Given the description of an element on the screen output the (x, y) to click on. 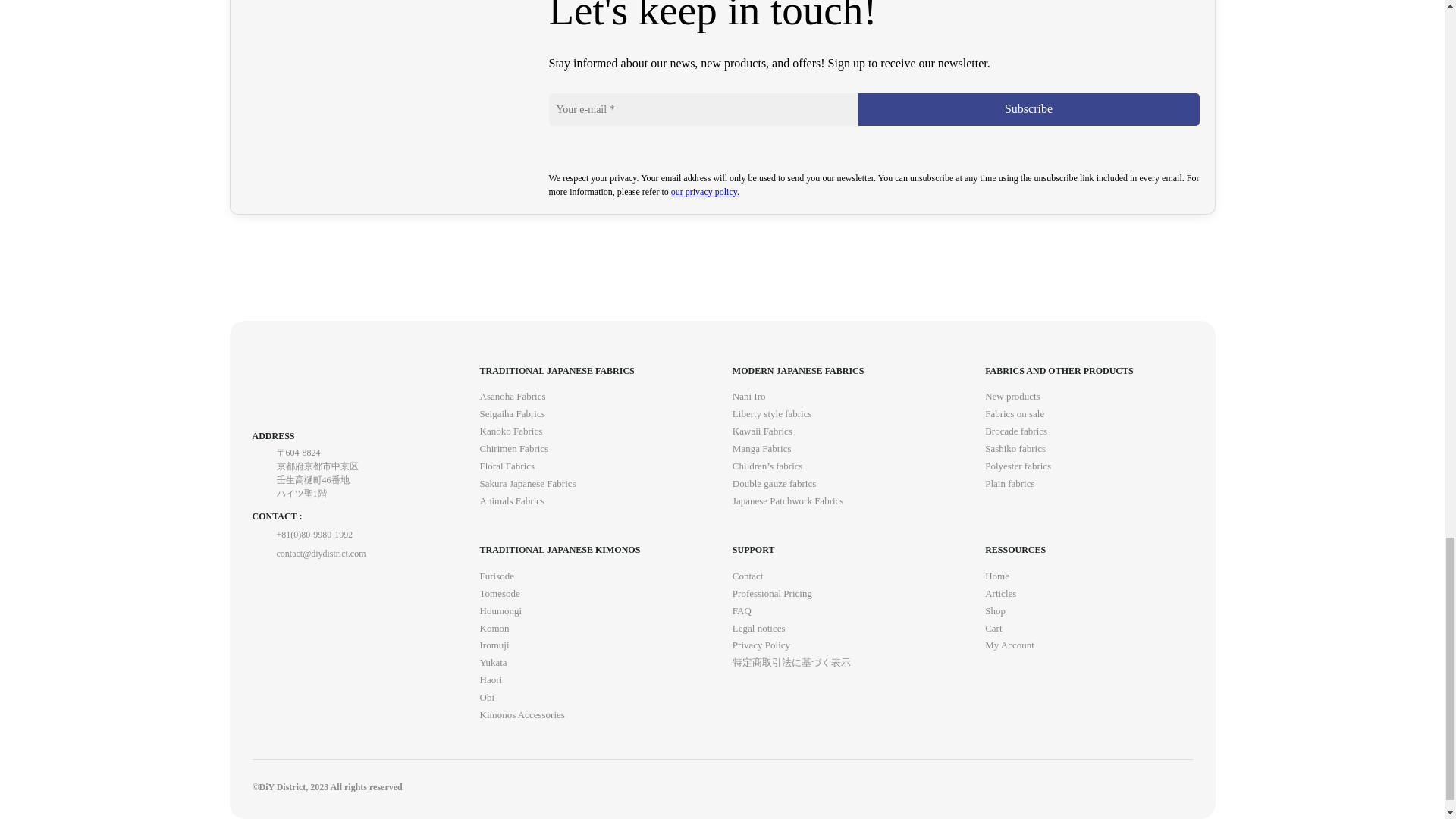
Subscribe (1029, 109)
